Given the description of an element on the screen output the (x, y) to click on. 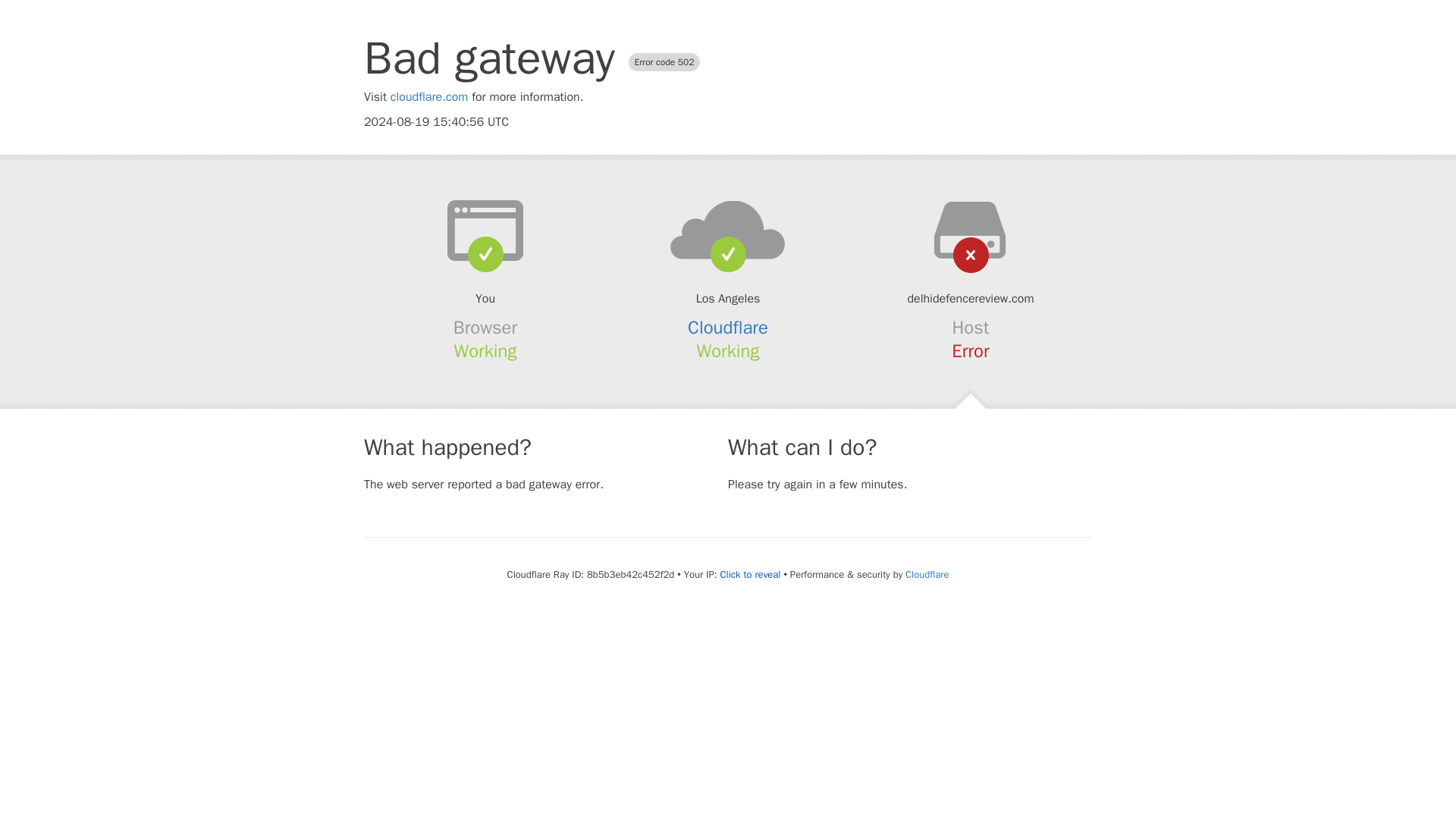
Cloudflare (927, 574)
Cloudflare (727, 327)
cloudflare.com (429, 96)
Click to reveal (750, 574)
